Given the description of an element on the screen output the (x, y) to click on. 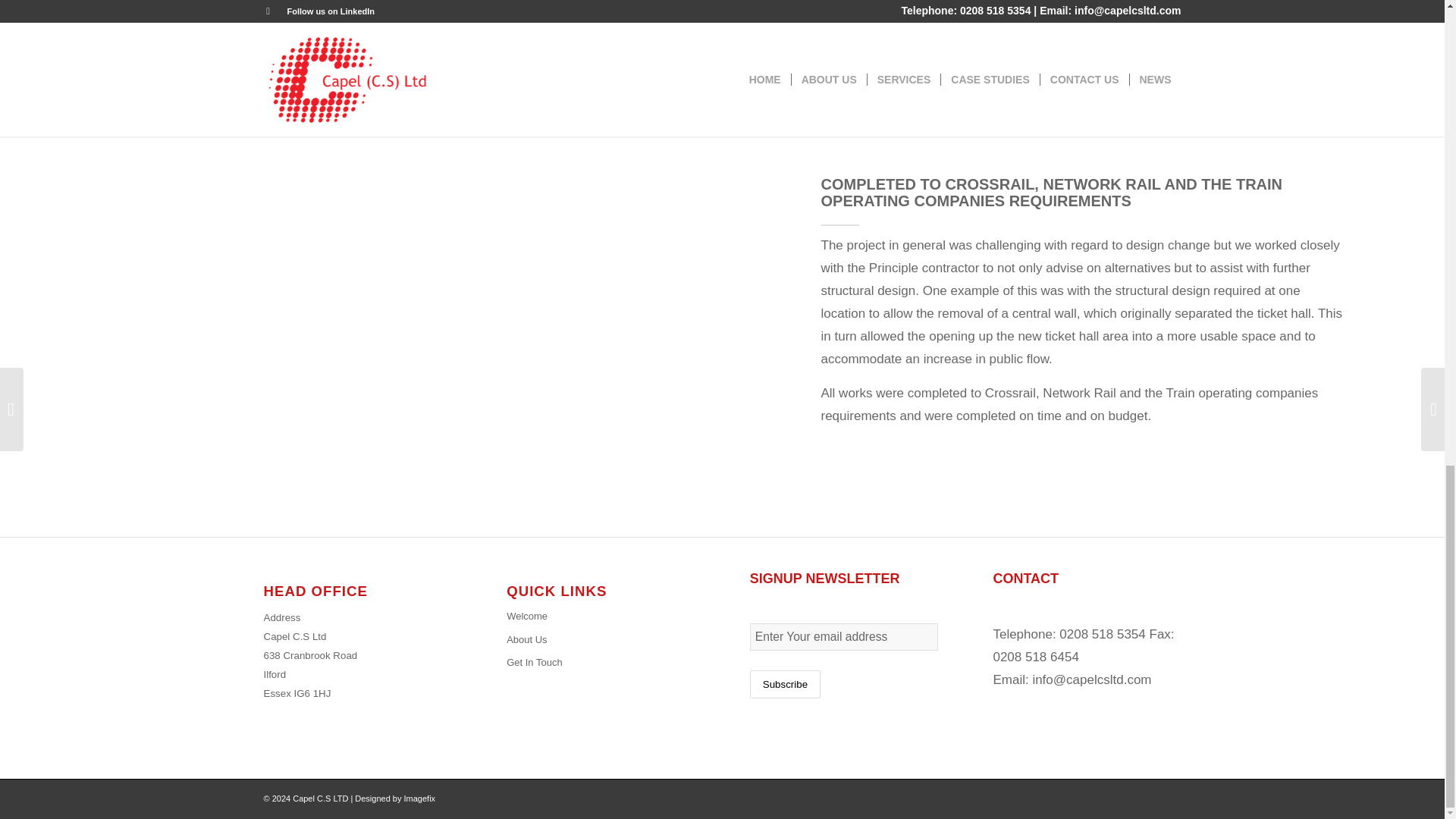
Get In Touch (600, 662)
Imagefix (419, 798)
About Us (600, 639)
Subscribe (785, 684)
Welcome (600, 616)
Subscribe (785, 684)
